Given the description of an element on the screen output the (x, y) to click on. 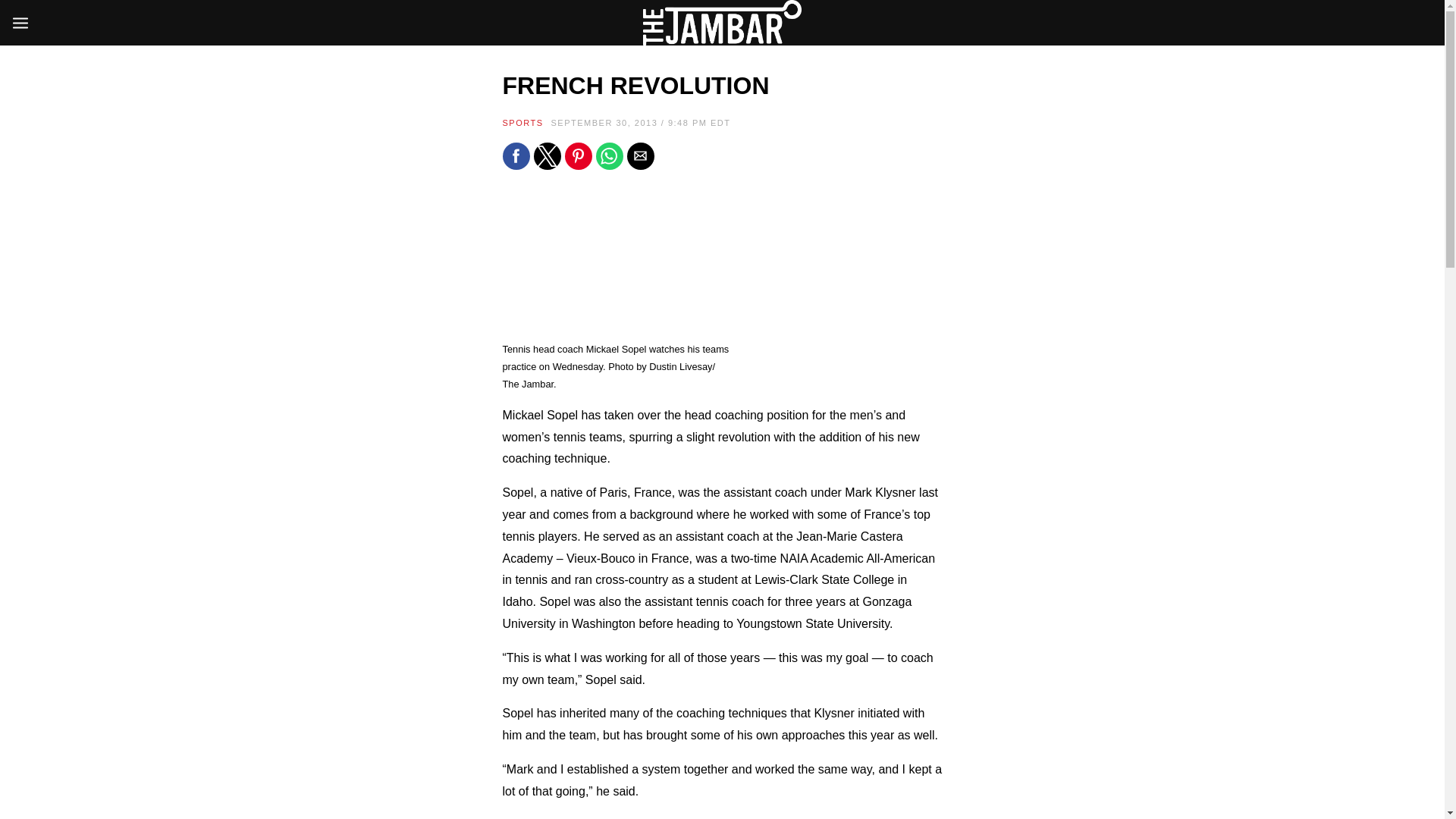
SPORTS (522, 122)
View all posts in Sports (522, 122)
